Given the description of an element on the screen output the (x, y) to click on. 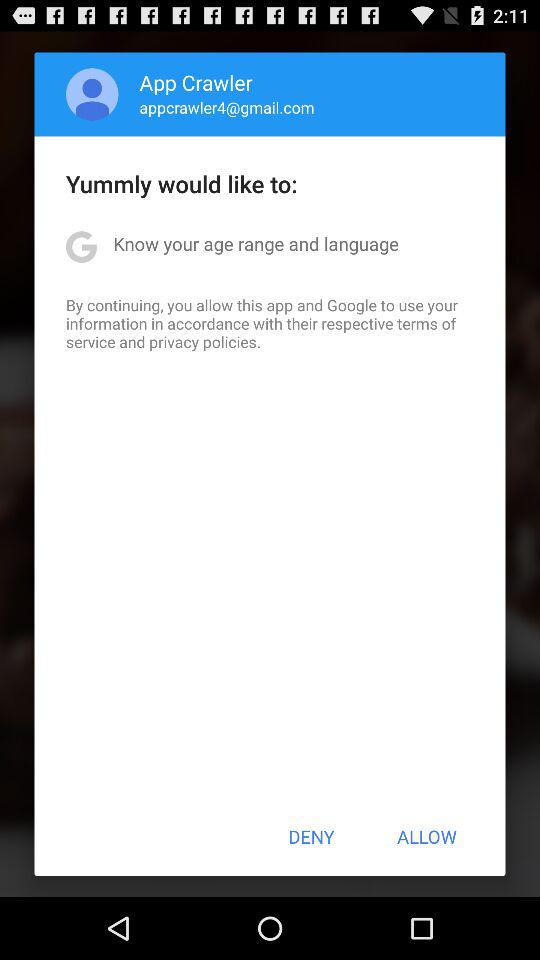
select app crawler icon (195, 82)
